Given the description of an element on the screen output the (x, y) to click on. 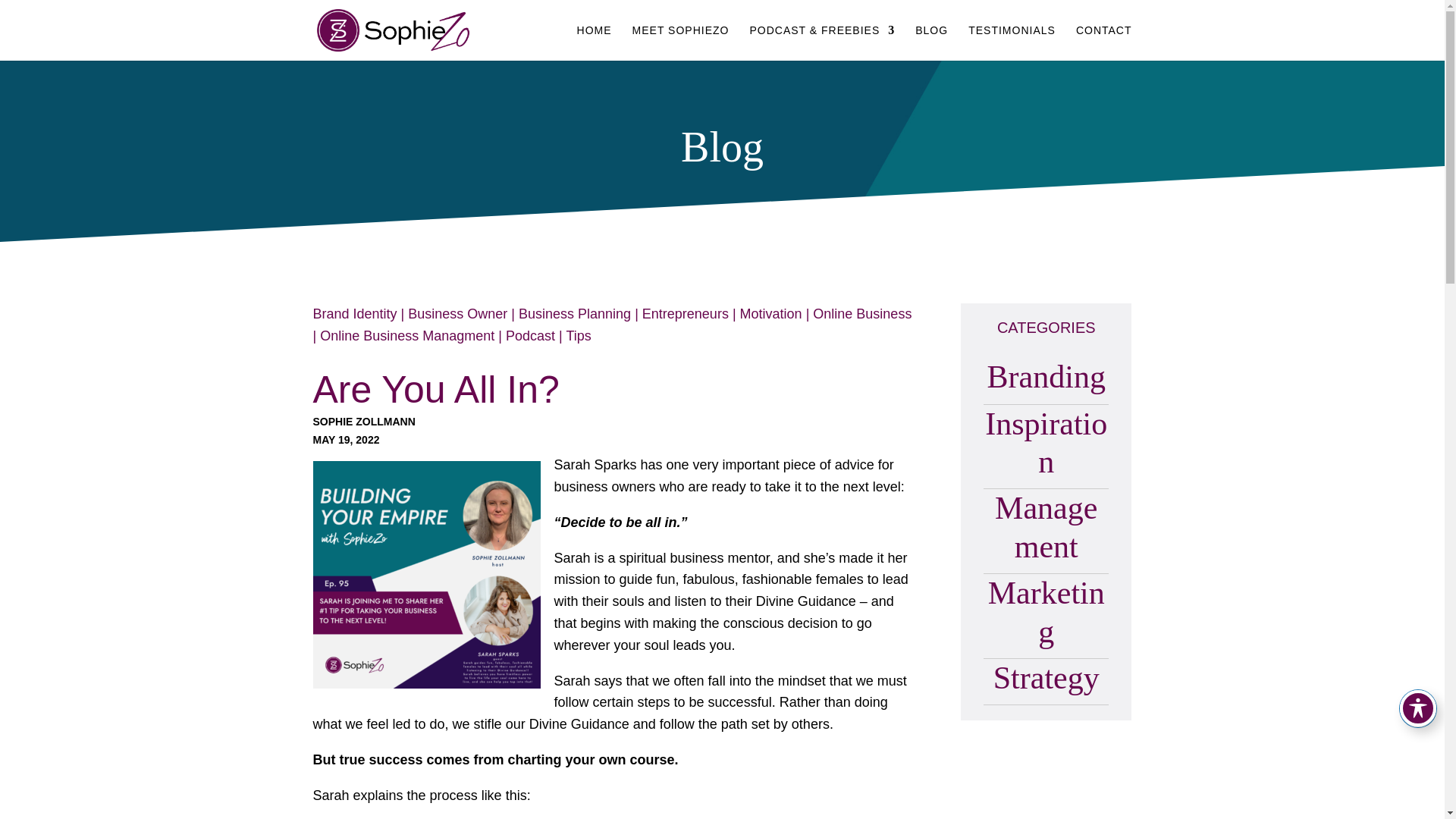
CONTACT (1103, 42)
HOME (593, 42)
Motivation (770, 313)
Online Business (861, 313)
Business Planning (574, 313)
Entrepreneurs (685, 313)
Online Business Managment (407, 335)
BLOG (931, 42)
Tips (578, 335)
Branding (1046, 376)
Brand Identity (354, 313)
Podcast (529, 335)
Inspiration (1045, 442)
Business Owner (456, 313)
TESTIMONIALS (1011, 42)
